Given the description of an element on the screen output the (x, y) to click on. 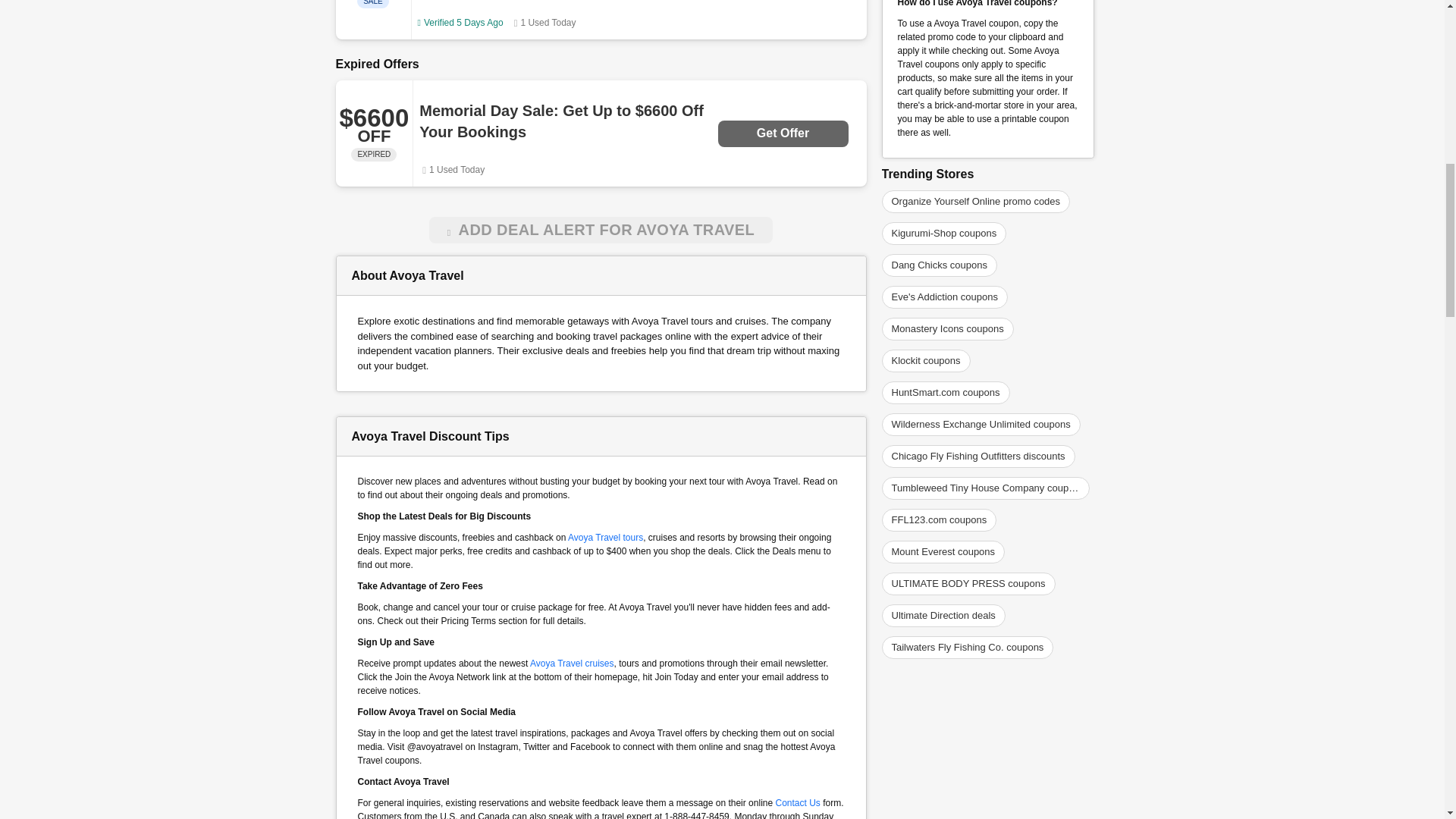
Avoya Travel cruises (571, 663)
ADD DEAL ALERT FOR AVOYA TRAVEL (601, 230)
Contact Us (796, 802)
Avoya Travel tours (605, 537)
